Given the description of an element on the screen output the (x, y) to click on. 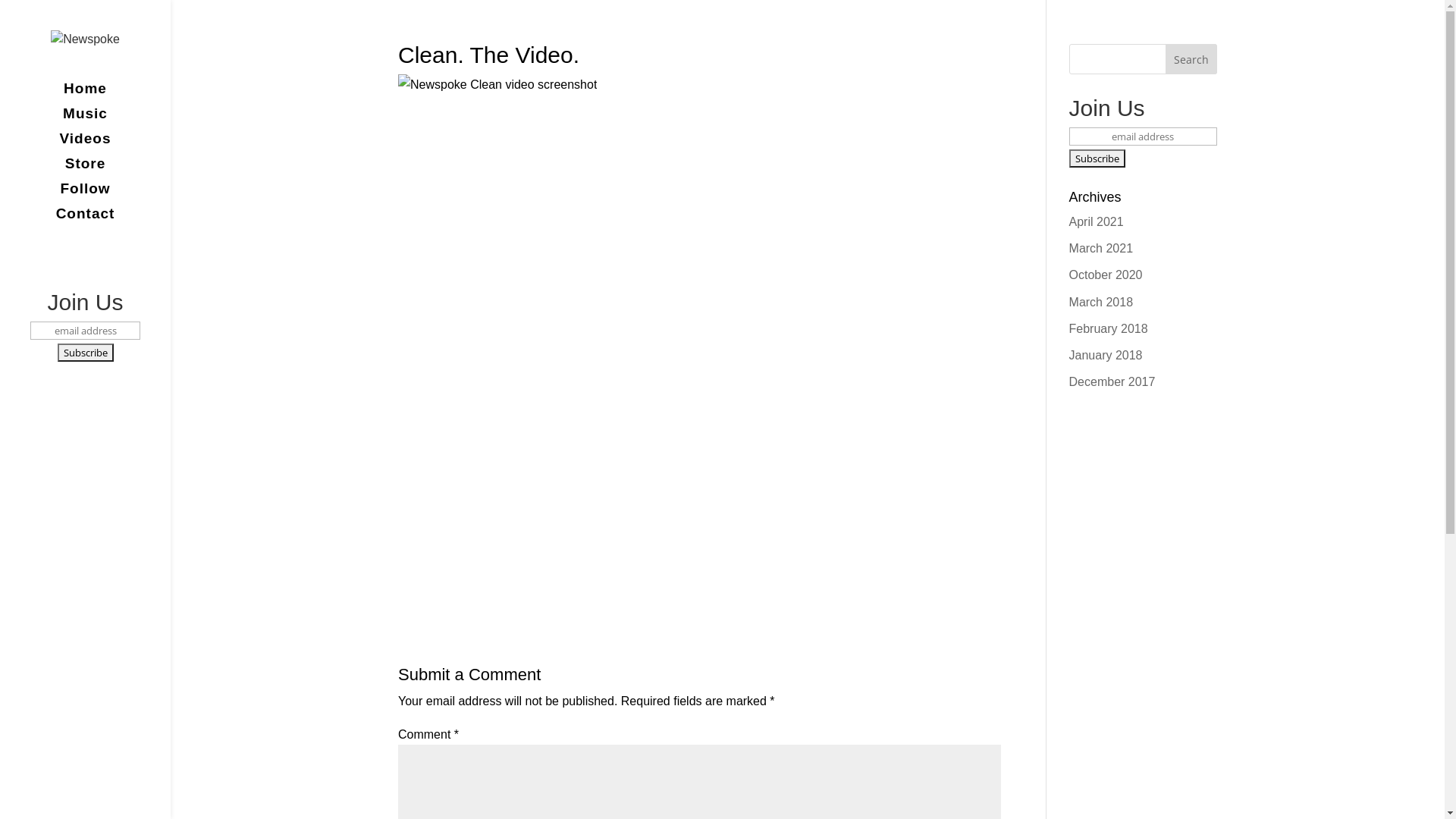
December 2017 Element type: text (1112, 381)
February 2018 Element type: text (1108, 328)
March 2018 Element type: text (1101, 301)
March 2021 Element type: text (1101, 247)
Music Element type: text (100, 120)
Search Element type: text (1191, 58)
Videos Element type: text (100, 145)
January 2018 Element type: text (1105, 354)
Subscribe Element type: text (85, 352)
April 2021 Element type: text (1096, 221)
Subscribe Element type: text (1097, 158)
October 2020 Element type: text (1105, 274)
Contact Element type: text (100, 220)
Store Element type: text (100, 170)
Follow Element type: text (100, 195)
Newspoke - "Clean" Element type: hover (699, 347)
Home Element type: text (100, 95)
